Given the description of an element on the screen output the (x, y) to click on. 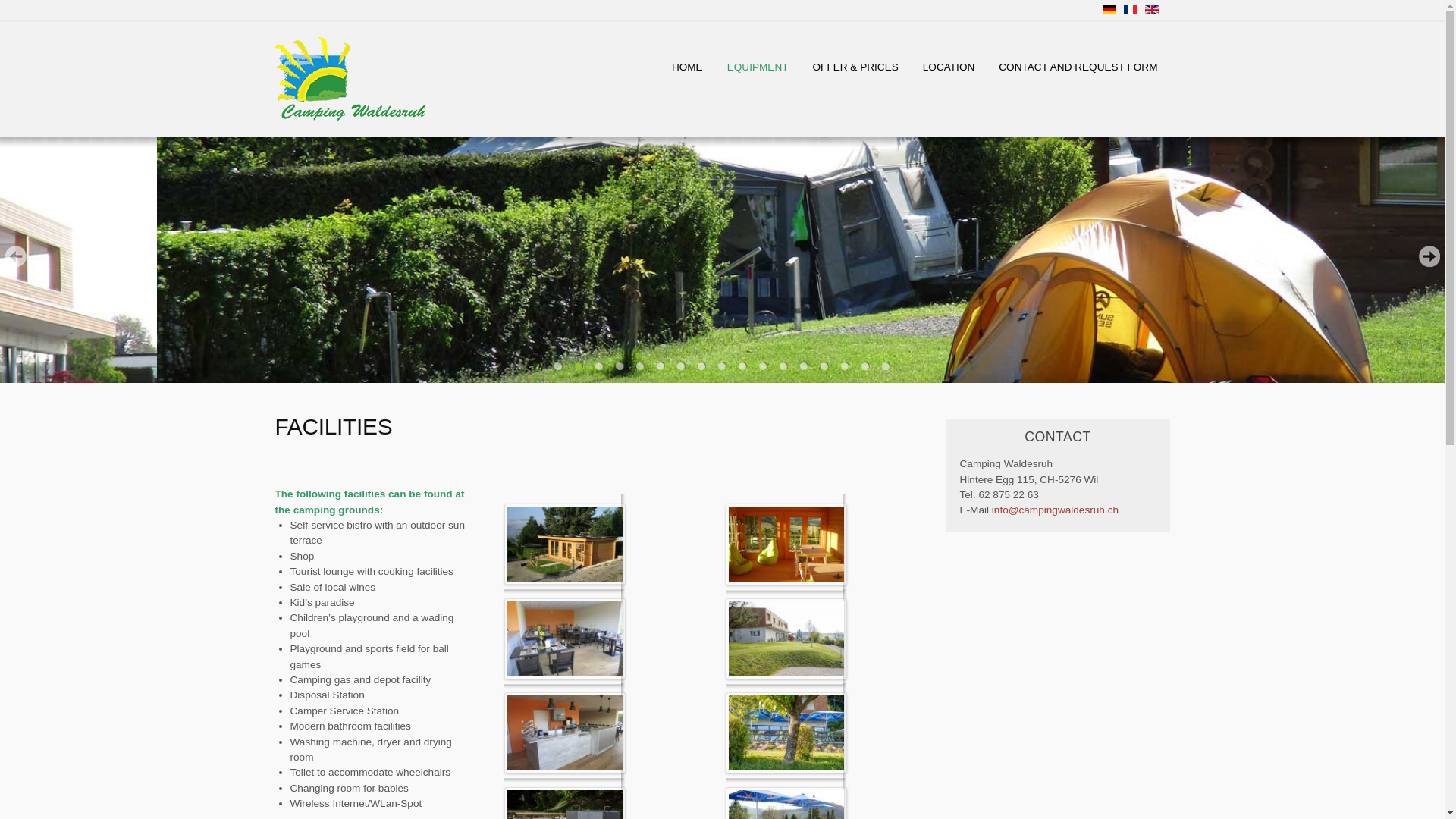
HOME Element type: text (687, 67)
<span class="sige_js_title">Infrastruktur_12</span> Element type: hover (786, 637)
3 Element type: text (599, 365)
<span class="sige_js_title">Infrastrukt_11</span> Element type: hover (786, 543)
<span class="sige_js_title">Infrastruktur_13</span> Element type: hover (786, 731)
Englisch Element type: hover (1151, 9)
13 Element type: text (804, 365)
17 Element type: text (885, 365)
OFFER & PRICES Element type: text (855, 67)
Infrastruktur_12 Element type: hover (786, 638)
info@campingwaldesruh.ch Element type: text (1054, 509)
Infrastr_05 Element type: hover (564, 543)
CONTACT AND REQUEST FORM Element type: text (1077, 67)
Infrastruktur_02 Element type: hover (564, 732)
<span class="sige_js_title">Infrastr_05</span> Element type: hover (565, 543)
< Element type: text (14, 255)
5 Element type: text (640, 365)
Infrastruktur_13 Element type: hover (786, 732)
10 Element type: text (742, 365)
1 Element type: text (558, 365)
LOCATION Element type: text (948, 67)
8 Element type: text (701, 365)
Infrastruktur_01 Element type: hover (564, 638)
4 Element type: text (619, 365)
15 Element type: text (844, 365)
<span class="sige_js_title">Infrastruktur_01</span> Element type: hover (565, 637)
11 Element type: text (763, 365)
Infrastrukt_11 Element type: hover (786, 543)
16 Element type: text (865, 365)
EQUIPMENT Element type: text (757, 67)
Deutsch Element type: hover (1109, 9)
2 Element type: text (578, 365)
9 Element type: text (722, 365)
14 Element type: text (824, 365)
<span class="sige_js_title">Infrastruktur_02</span> Element type: hover (565, 731)
7 Element type: text (681, 365)
12 Element type: text (783, 365)
6 Element type: text (660, 365)
> Element type: text (1429, 255)
